Given the description of an element on the screen output the (x, y) to click on. 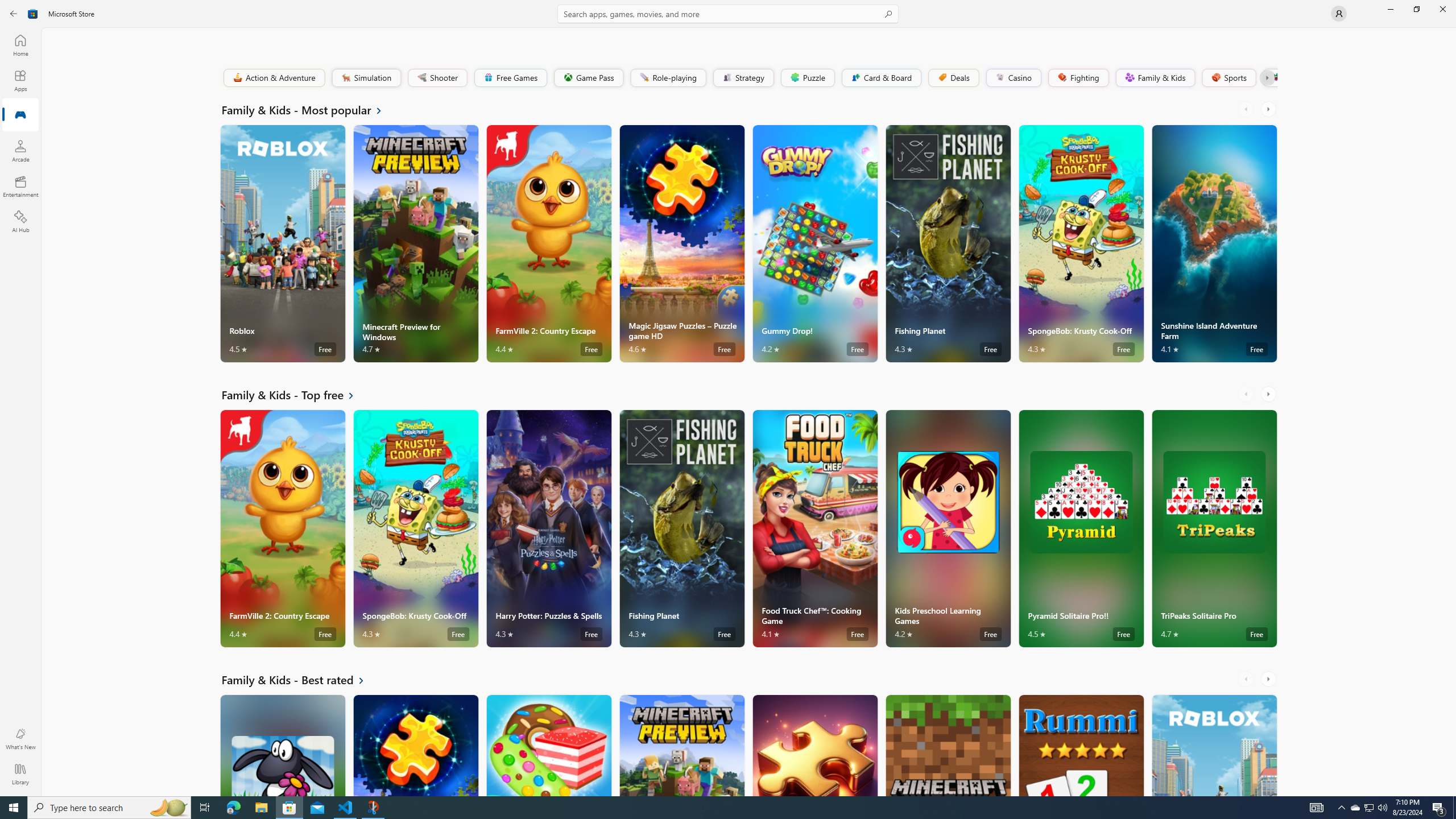
Class: Button (1266, 77)
Deals (952, 77)
Roblox. Average rating of 4.5 out of five stars. Free   (1213, 745)
Free Games (509, 77)
Fighting (1078, 77)
AutomationID: LeftScrollButton (1246, 678)
Gummy Drop!. Average rating of 4.2 out of five stars. Free   (814, 243)
